Given the description of an element on the screen output the (x, y) to click on. 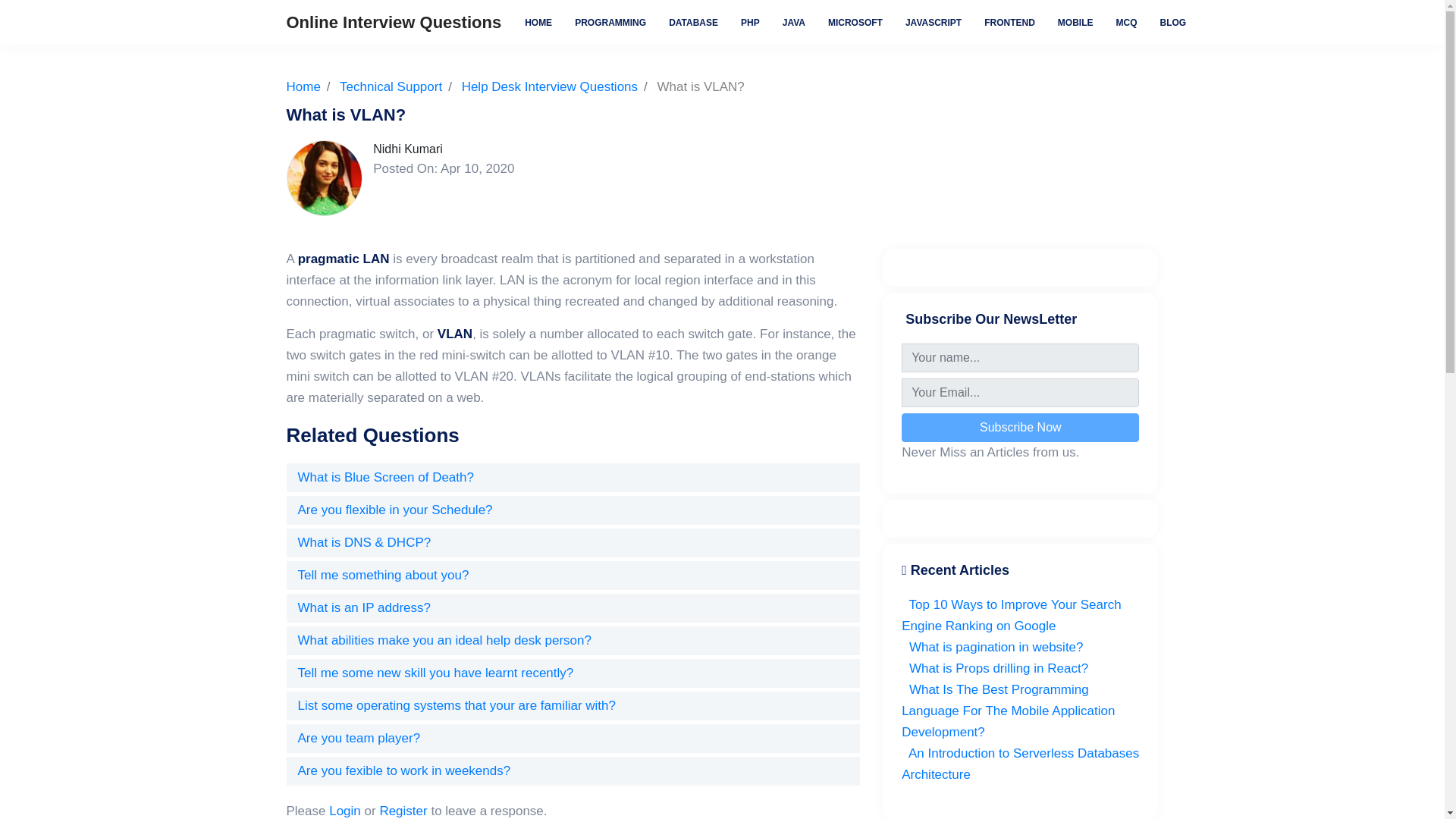
MCQ (1126, 22)
Are you flexible in your Schedule? (394, 509)
List some operating systems that your are familiar with? (456, 705)
Tell me something about you? (382, 575)
What is Props drilling in React? (994, 667)
What abilities make you an ideal help desk person? (444, 640)
FRONTEND (1009, 22)
PHP (750, 22)
Are you team player? (358, 738)
